Given the description of an element on the screen output the (x, y) to click on. 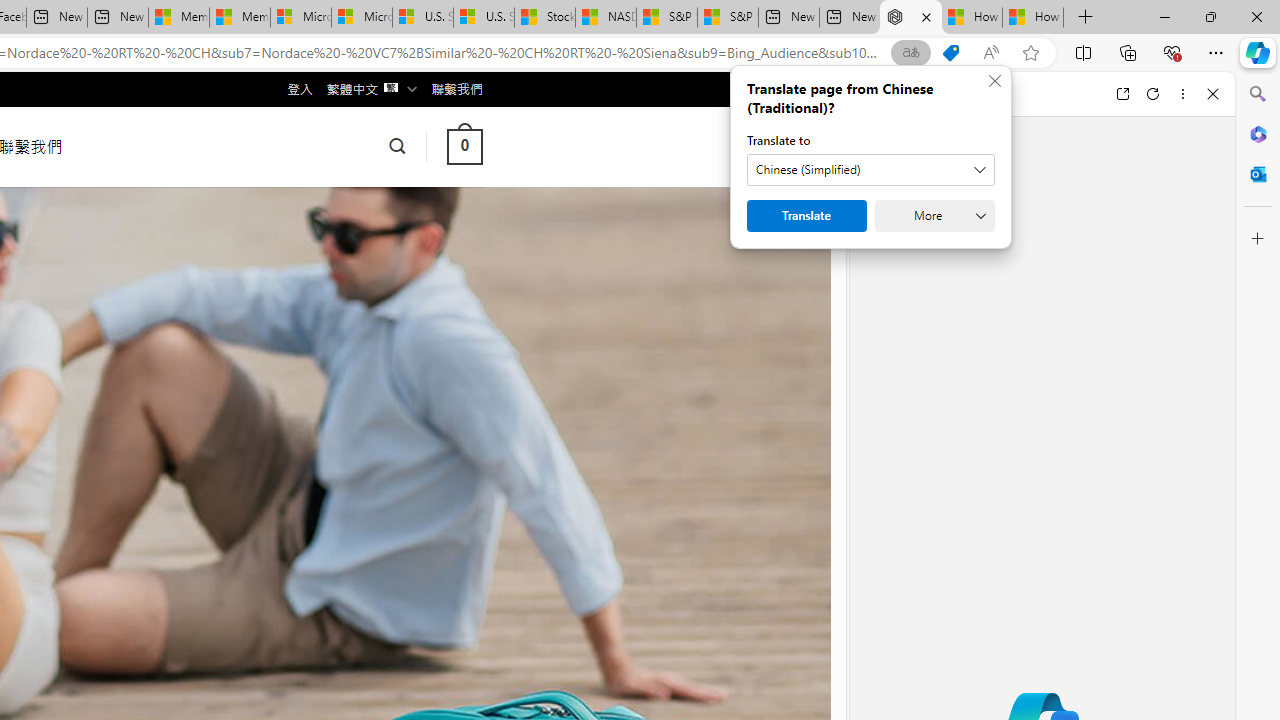
Microsoft 365 (1258, 133)
 0  (464, 146)
Show translate options (910, 53)
